Given the description of an element on the screen output the (x, y) to click on. 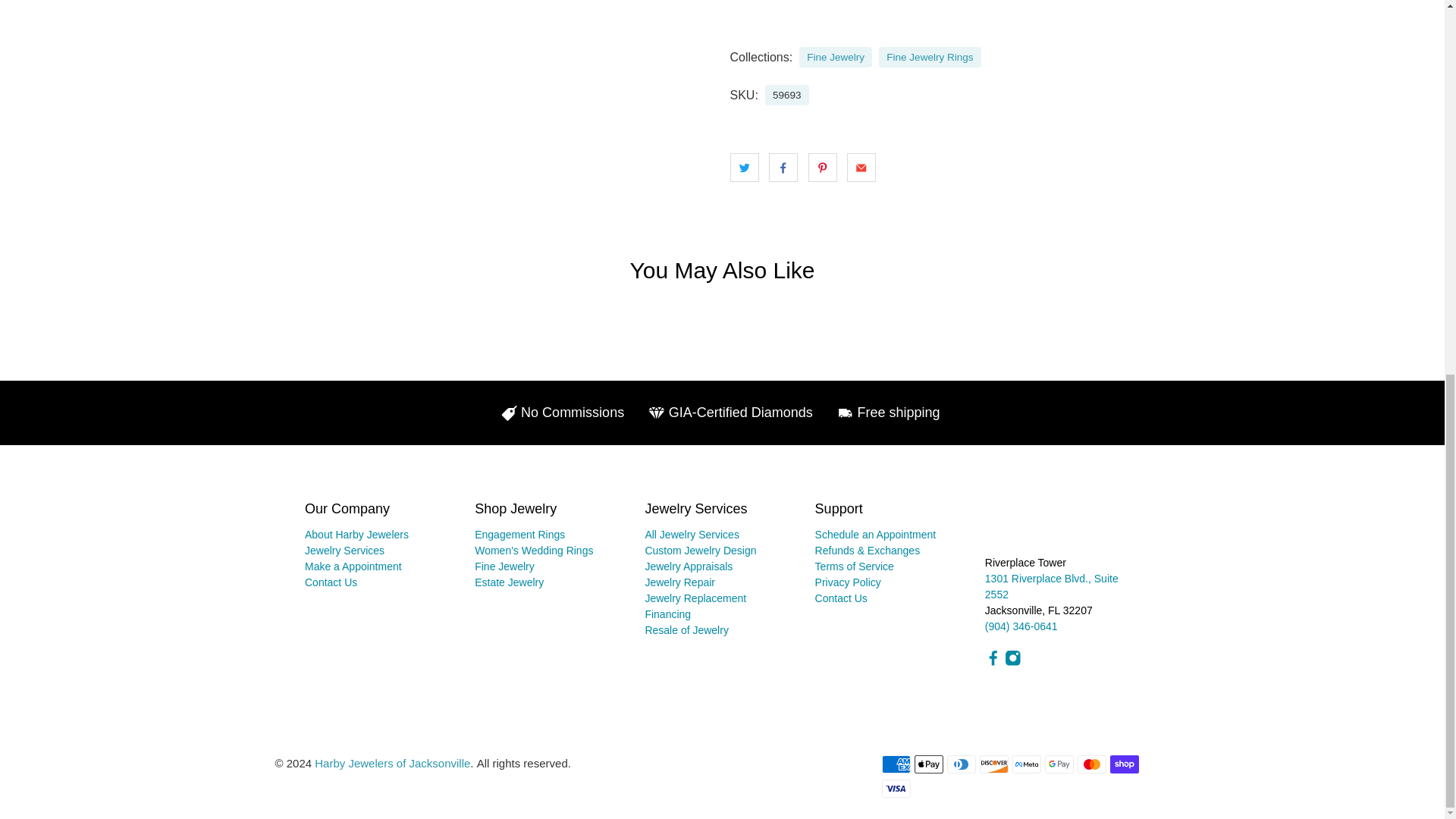
American Express (895, 764)
Email this to a friend (861, 167)
Harby Jewelers of Jacksonville on Facebook (993, 662)
Discover (994, 764)
Share this on Pinterest (822, 167)
Fine Jewelry Rings (929, 57)
Diners Club (961, 764)
Harby Jewelers of Jacksonville (1046, 526)
Share this on Twitter (743, 167)
Apple Pay (928, 764)
Harby Jewelers of Jacksonville on Instagram (1013, 662)
Google Pay (1059, 764)
Meta Pay (1026, 764)
Fine Jewelry (835, 57)
Share this on Facebook (782, 167)
